Given the description of an element on the screen output the (x, y) to click on. 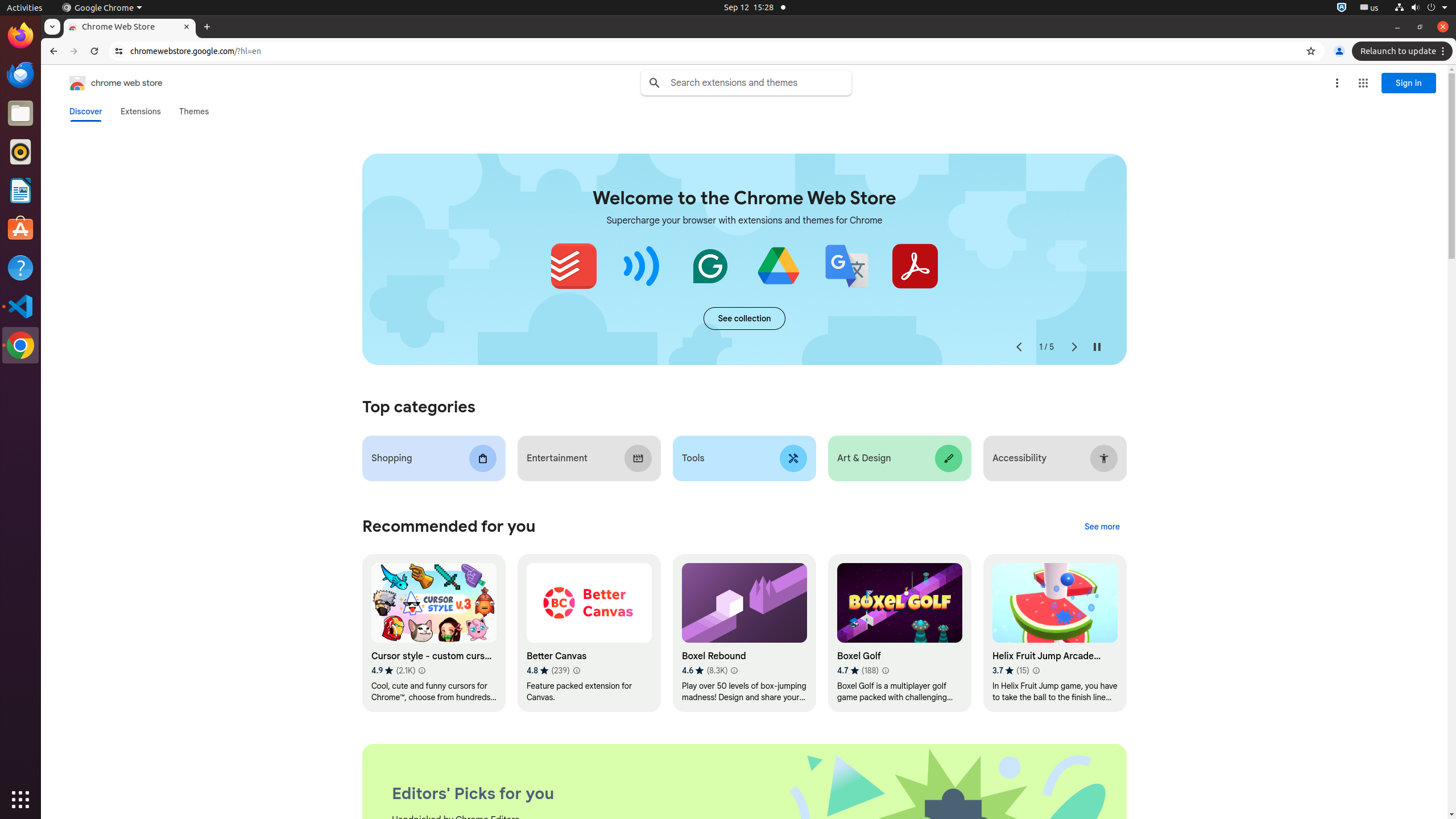
System Element type: menu (1420, 7)
Save to Google Drive Element type: link (778, 266)
More options menu Element type: push-button (1336, 82)
Learn more about results and reviews "Helix Fruit Jump Arcade Game" Element type: push-button (1035, 670)
See more personalized recommendations Element type: link (1101, 526)
